Given the description of an element on the screen output the (x, y) to click on. 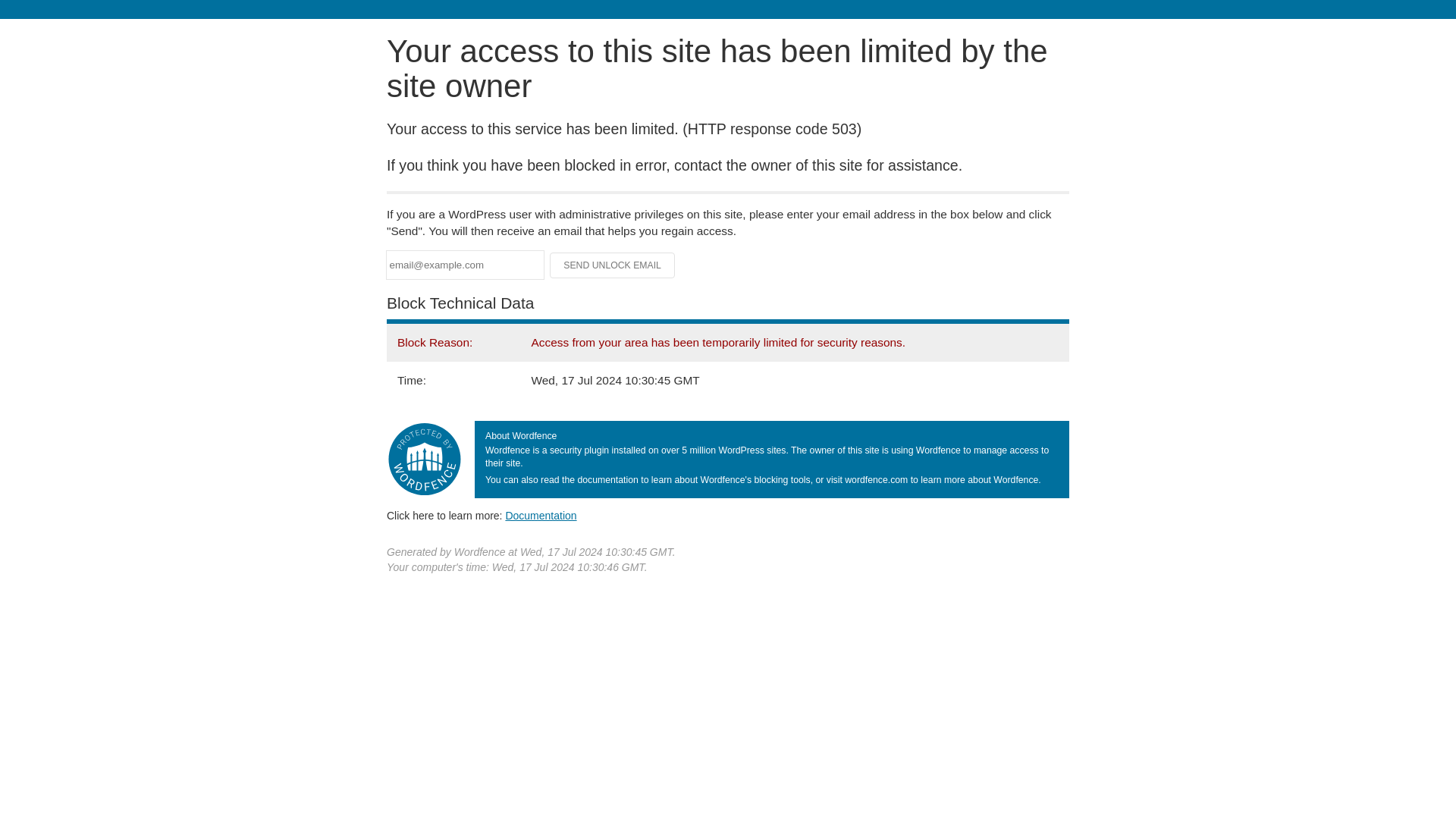
Send Unlock Email (612, 265)
Send Unlock Email (612, 265)
Documentation (540, 515)
